Given the description of an element on the screen output the (x, y) to click on. 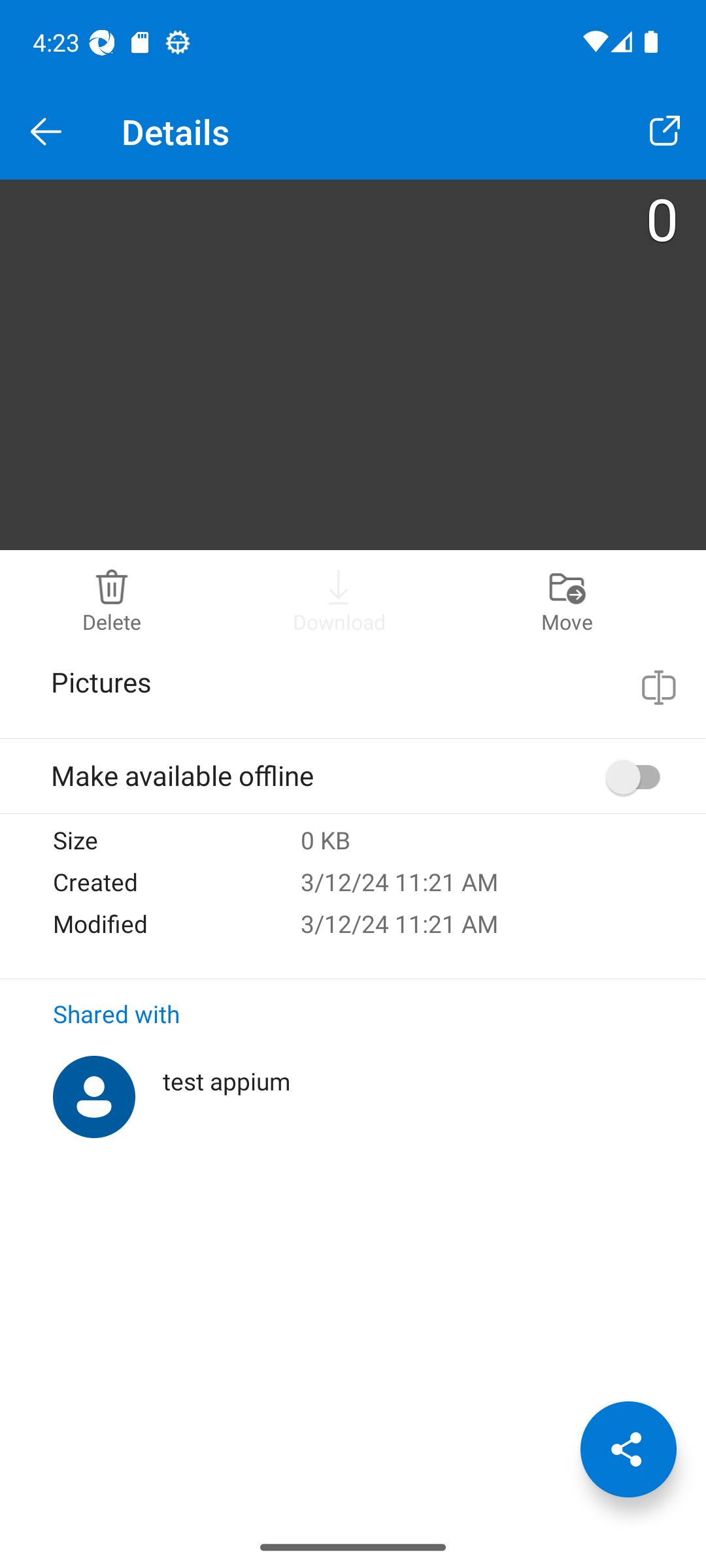
Back (46, 131)
Open item (664, 131)
Double tap to open Folder (353, 365)
Delete (112, 598)
Download (339, 598)
Move (566, 598)
Pictures (325, 682)
Rename (659, 687)
Make available offline (639, 777)
Share item (628, 1449)
